Given the description of an element on the screen output the (x, y) to click on. 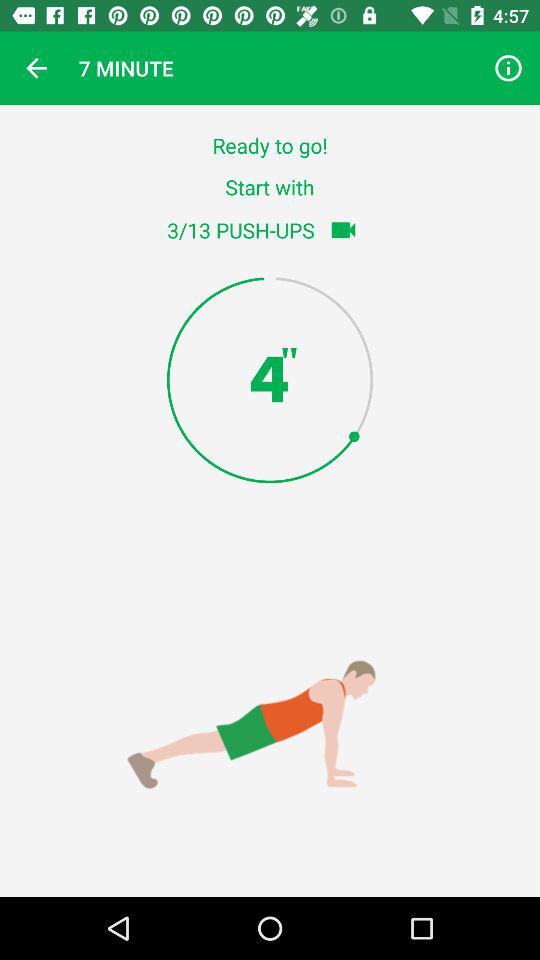
turn off the item below start with (343, 230)
